Given the description of an element on the screen output the (x, y) to click on. 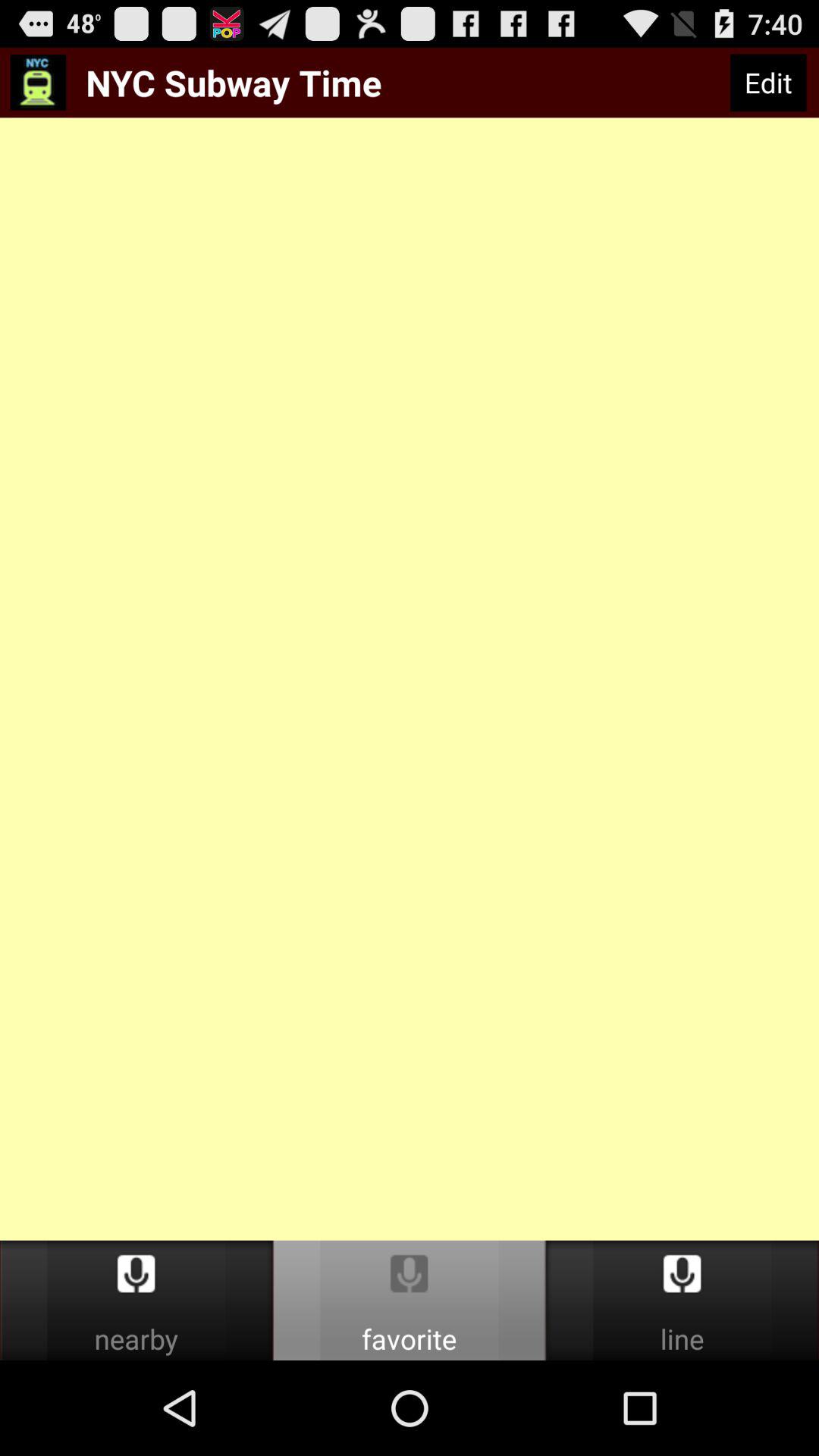
flip until edit (768, 82)
